Given the description of an element on the screen output the (x, y) to click on. 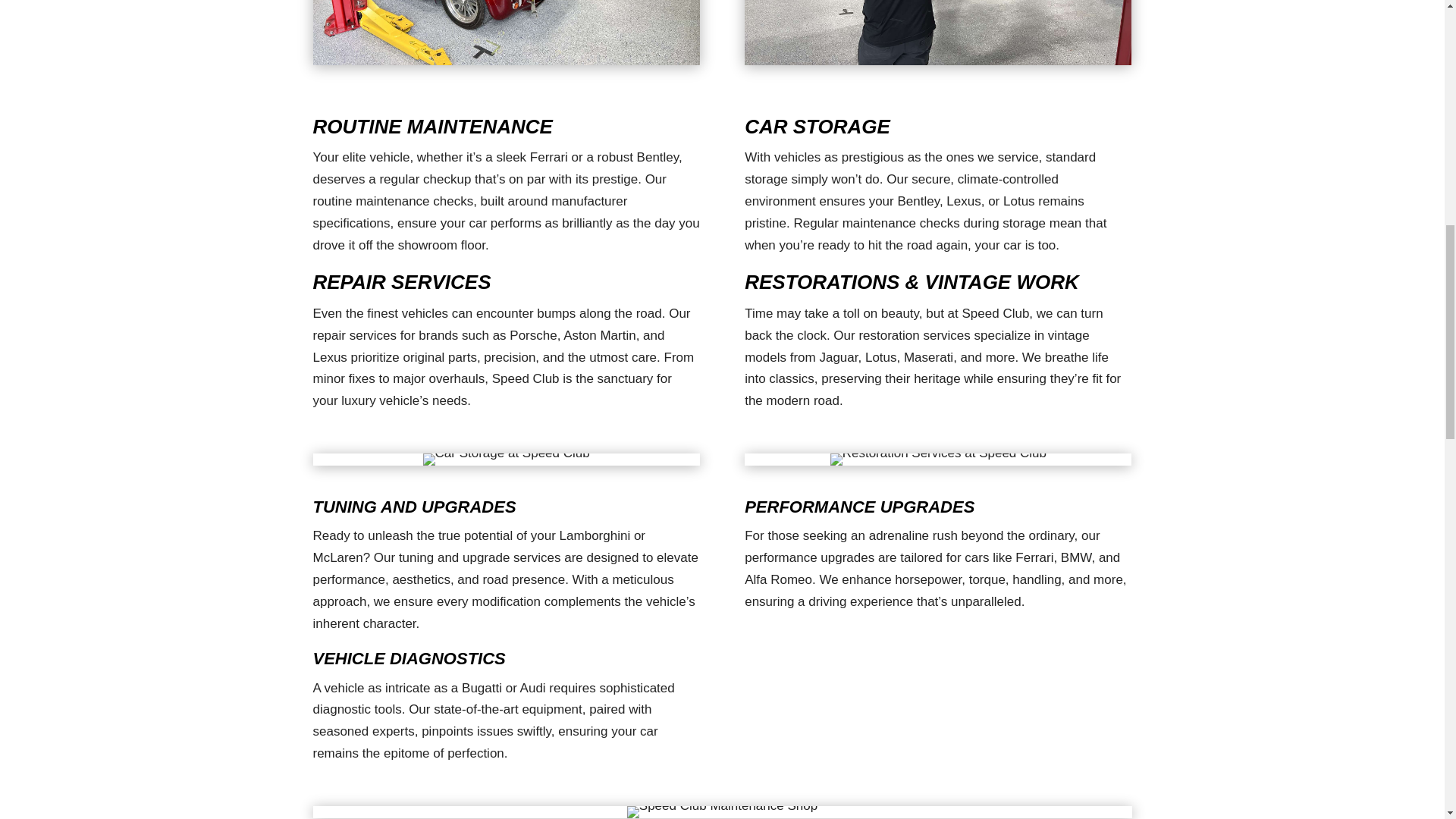
Car Storage at Speed Club (506, 459)
Speed Club Maintenance Shop (721, 811)
Maintenance Services at Speed Club (505, 32)
McLaren Maintenance at Speed Club (937, 32)
Restoration Services at Speed Club (937, 459)
